Given the description of an element on the screen output the (x, y) to click on. 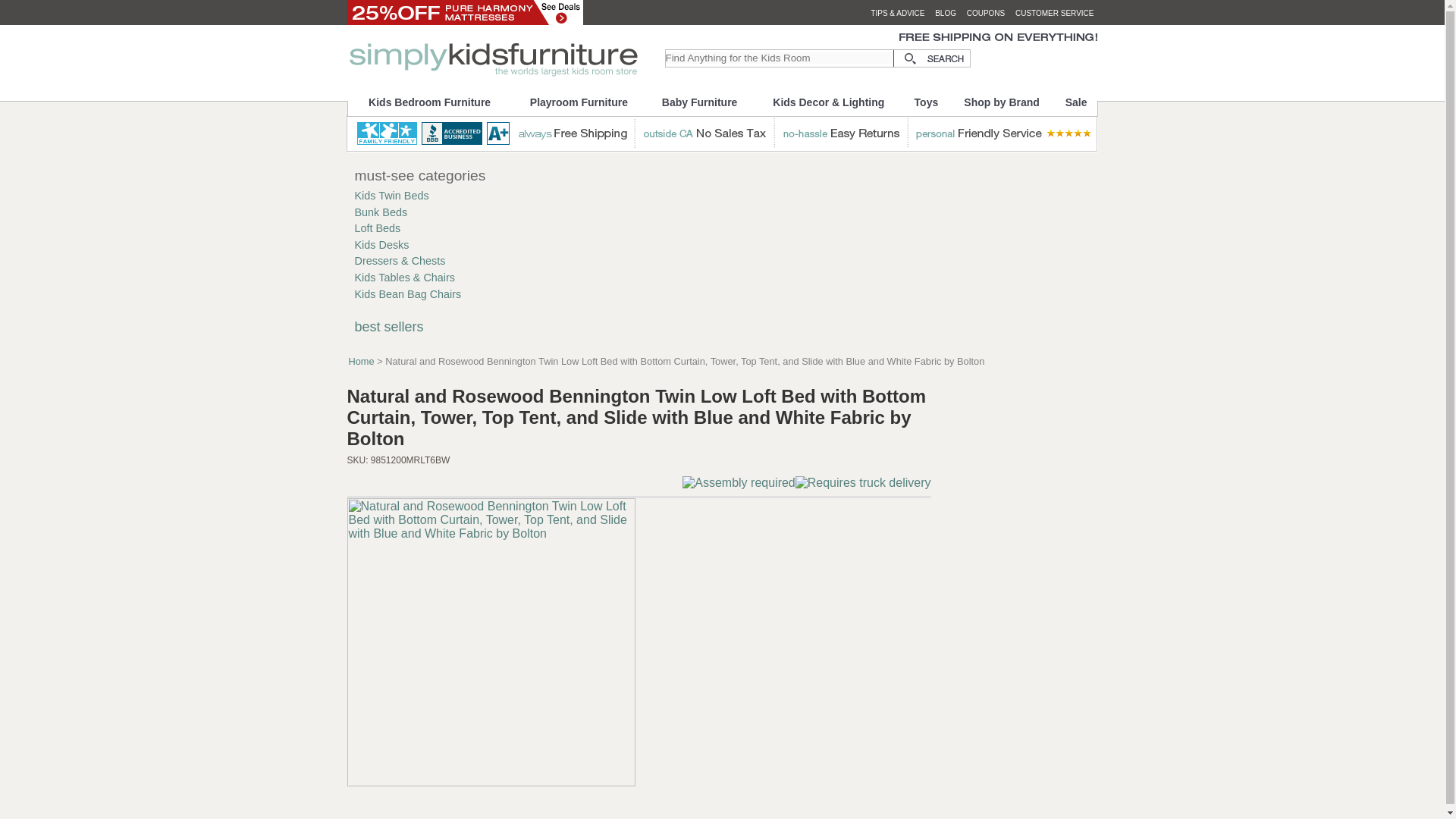
Assembly required (738, 482)
Requires truck delivery (862, 482)
COUPONS (986, 13)
BLOG (945, 13)
Playroom Furniture (579, 102)
Shop by Brand (1002, 102)
Toys (925, 102)
Kids Bedroom Furniture (429, 102)
Baby Furniture (699, 102)
CUSTOMER SERVICE (1054, 13)
Better Business Bureau Accredited Business (467, 132)
Sale (1076, 102)
